Given the description of an element on the screen output the (x, y) to click on. 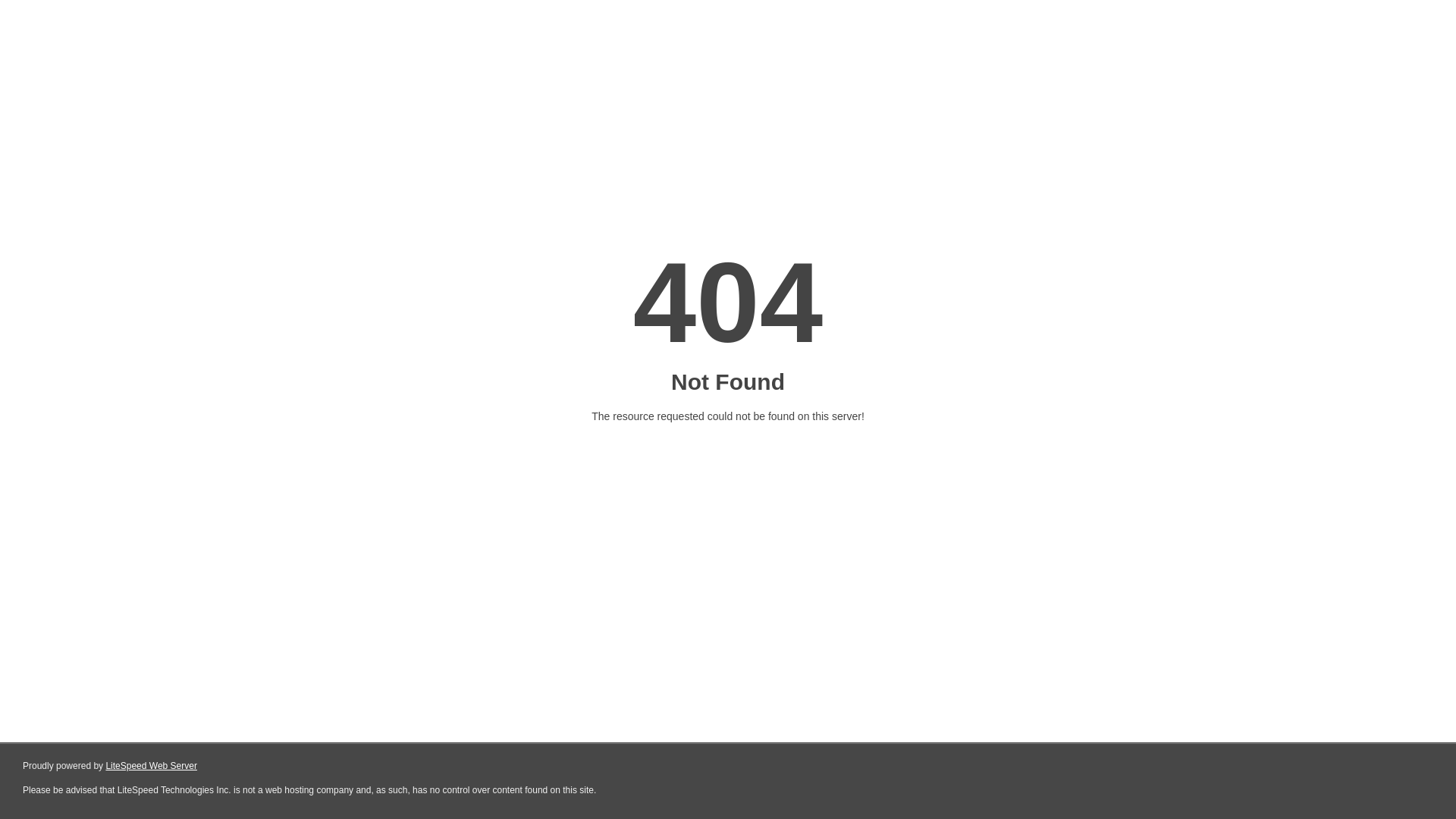
LiteSpeed Web Server Element type: text (151, 765)
